Given the description of an element on the screen output the (x, y) to click on. 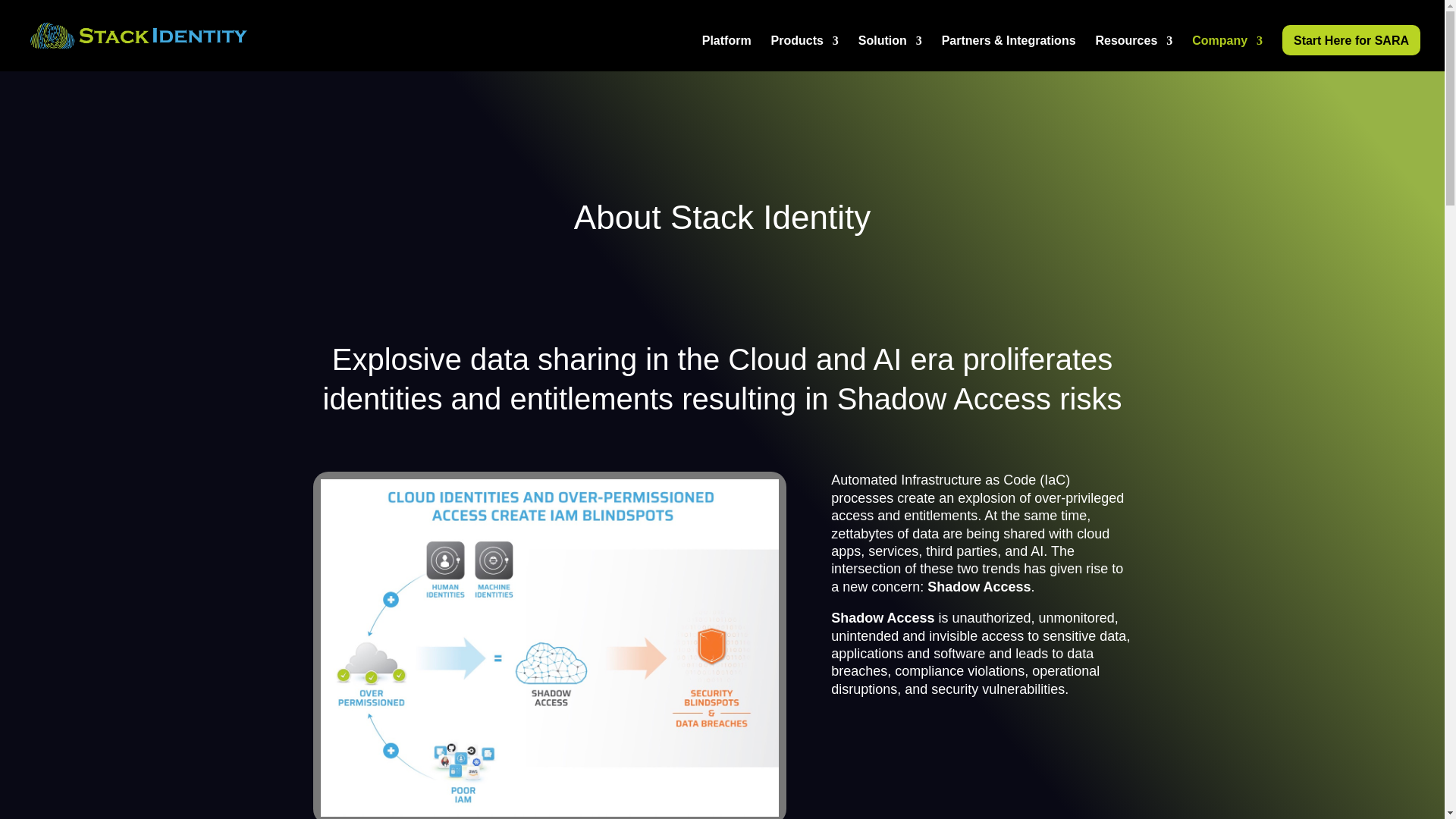
Company (1227, 53)
Platform (726, 53)
Solution (890, 53)
Start Here for SARA (1351, 40)
Resources (1133, 53)
Products (804, 53)
